Given the description of an element on the screen output the (x, y) to click on. 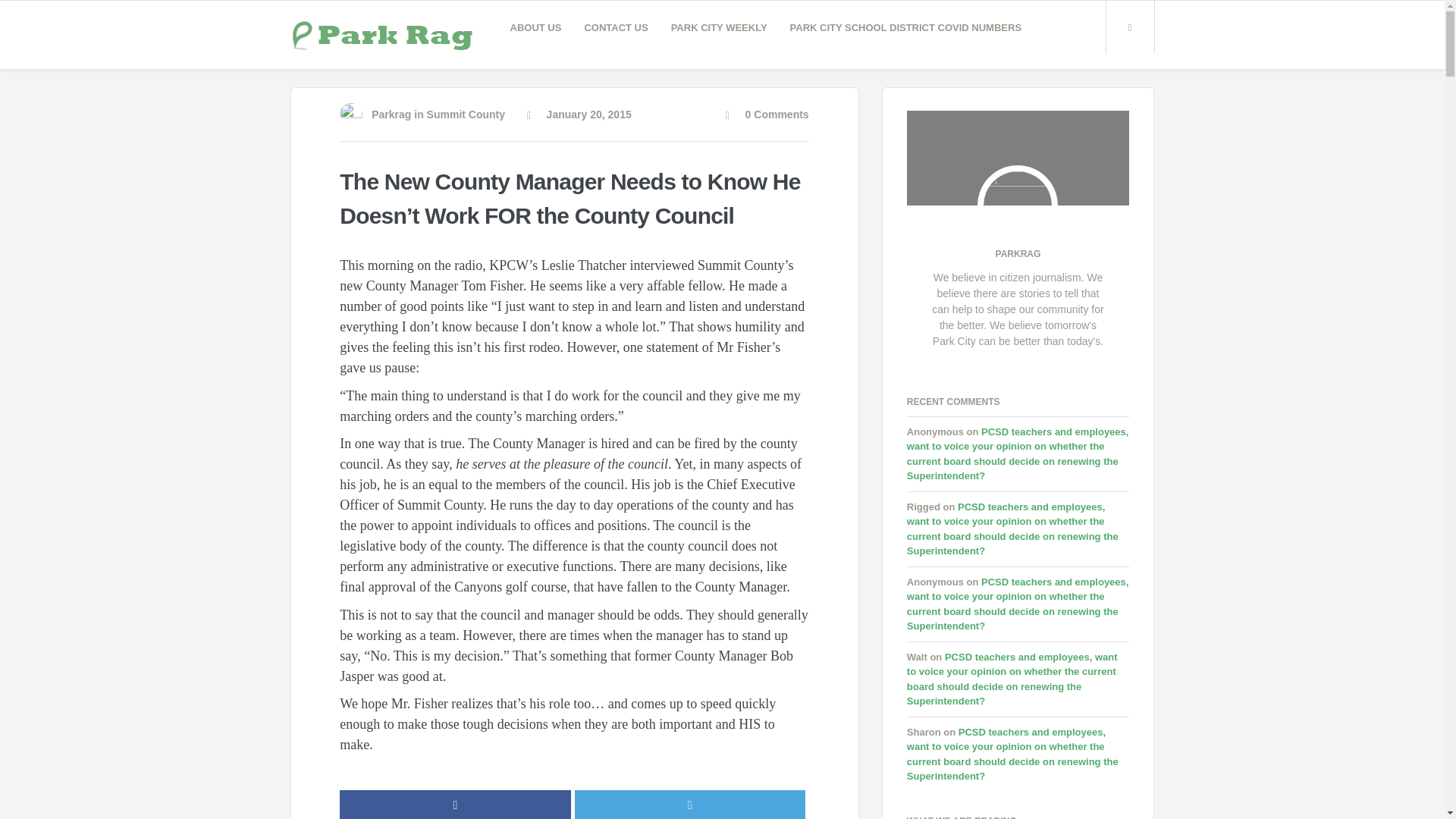
PARK CITY SCHOOL DISTRICT COVID NUMBERS (905, 27)
PARK CITY WEEKLY (718, 27)
Parkrag (390, 114)
ABOUT US (536, 27)
  0 Comments (767, 114)
  January 20, 2015 (579, 114)
